Given the description of an element on the screen output the (x, y) to click on. 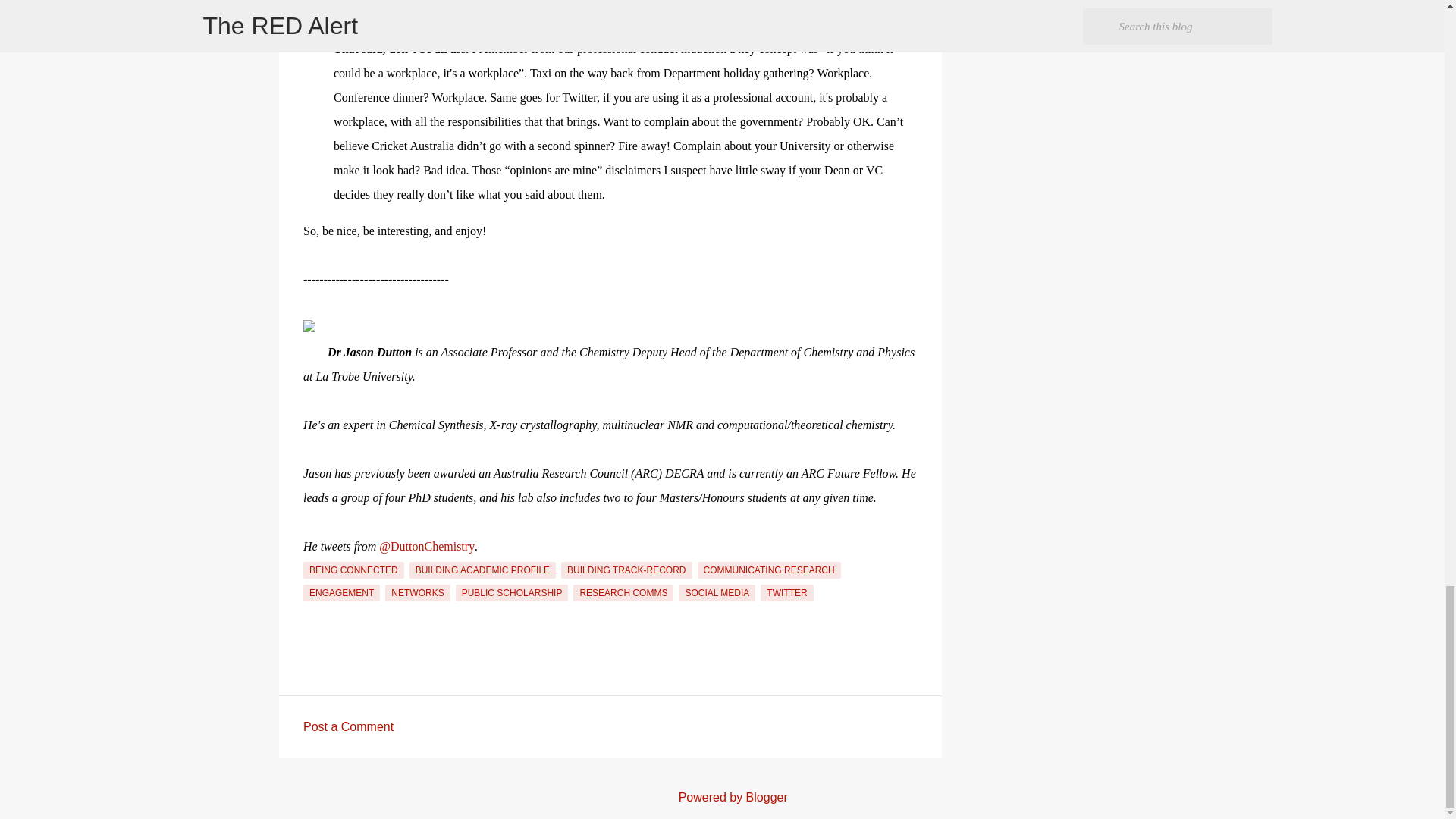
COMMUNICATING RESEARCH (769, 569)
BUILDING ACADEMIC PROFILE (482, 569)
Powered by Blogger (721, 797)
BUILDING TRACK-RECORD (625, 569)
ENGAGEMENT (341, 592)
NETWORKS (417, 592)
TWITTER (786, 592)
SOCIAL MEDIA (716, 592)
BEING CONNECTED (353, 569)
Post a Comment (347, 726)
PUBLIC SCHOLARSHIP (512, 592)
RESEARCH COMMS (622, 592)
